Given the description of an element on the screen output the (x, y) to click on. 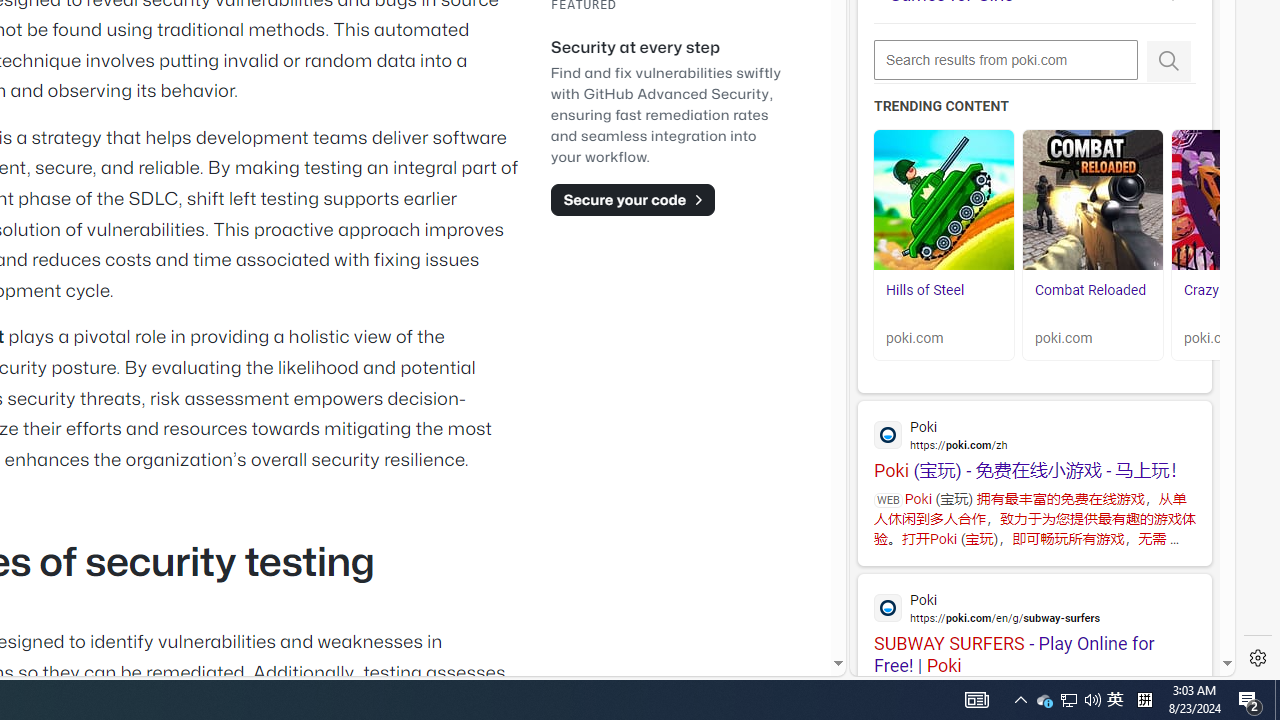
Combat Reloaded (1090, 290)
Combat Reloaded (1092, 200)
Crazy Cars (1217, 290)
Hills of Steel (943, 300)
Search results from poki.com (1005, 59)
